Given the description of an element on the screen output the (x, y) to click on. 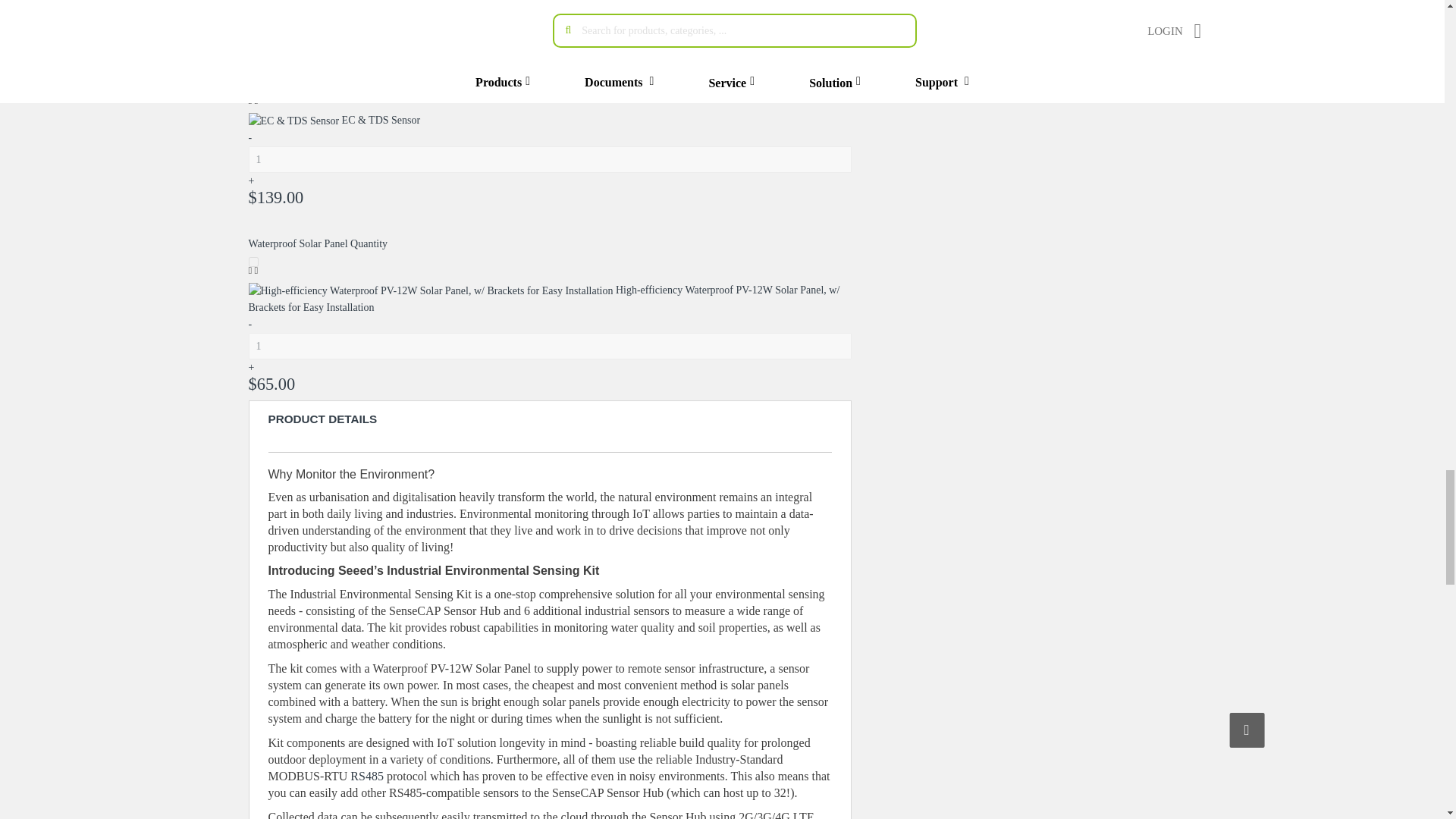
RS485 (367, 775)
1 (549, 345)
1 (549, 31)
1 (549, 159)
133 (253, 261)
132 (253, 91)
